Given the description of an element on the screen output the (x, y) to click on. 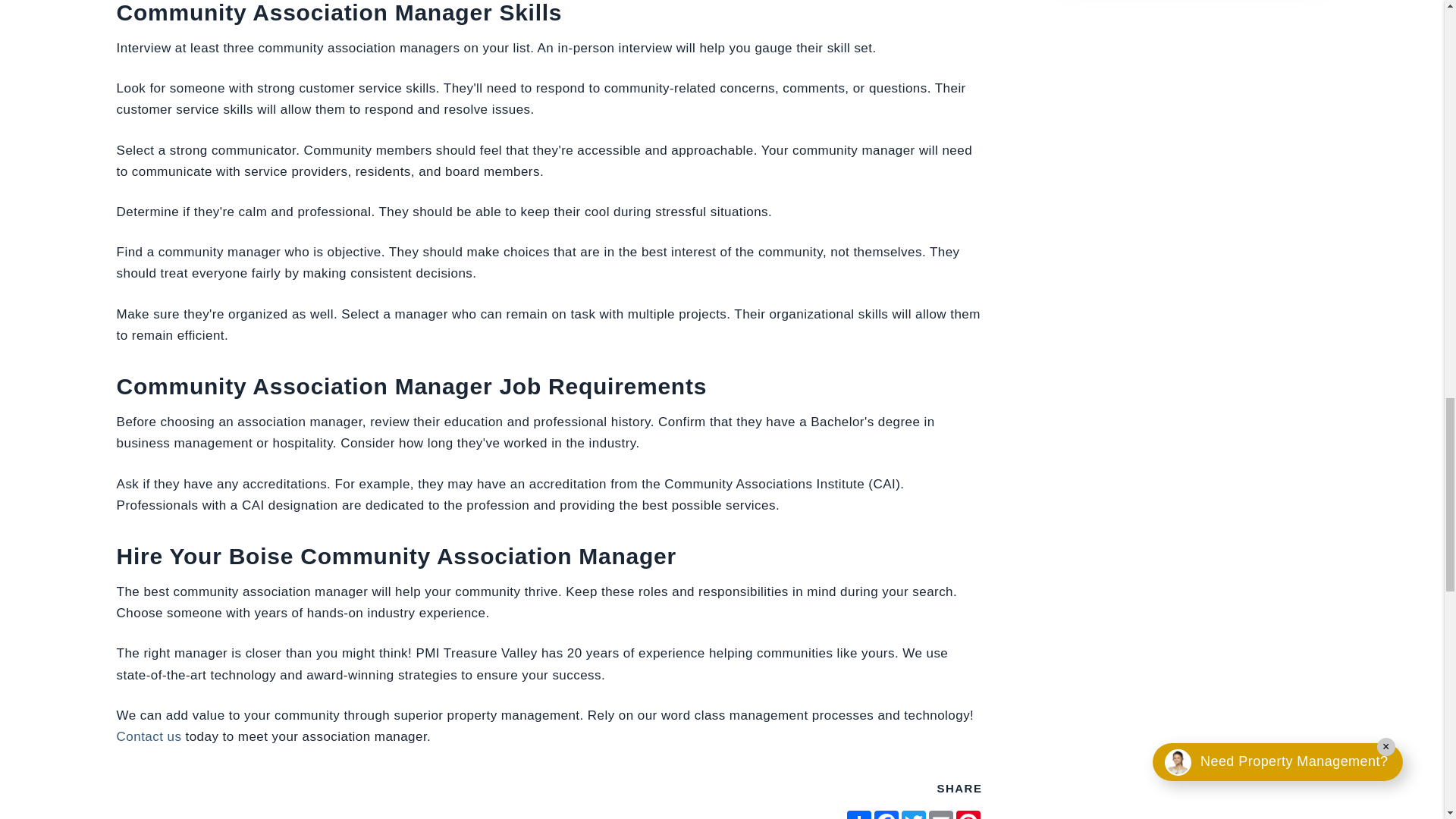
opens in new window (858, 814)
opens in new window (941, 814)
opens in new window (885, 814)
opens in new window (968, 814)
opens in new window (913, 814)
